Given the description of an element on the screen output the (x, y) to click on. 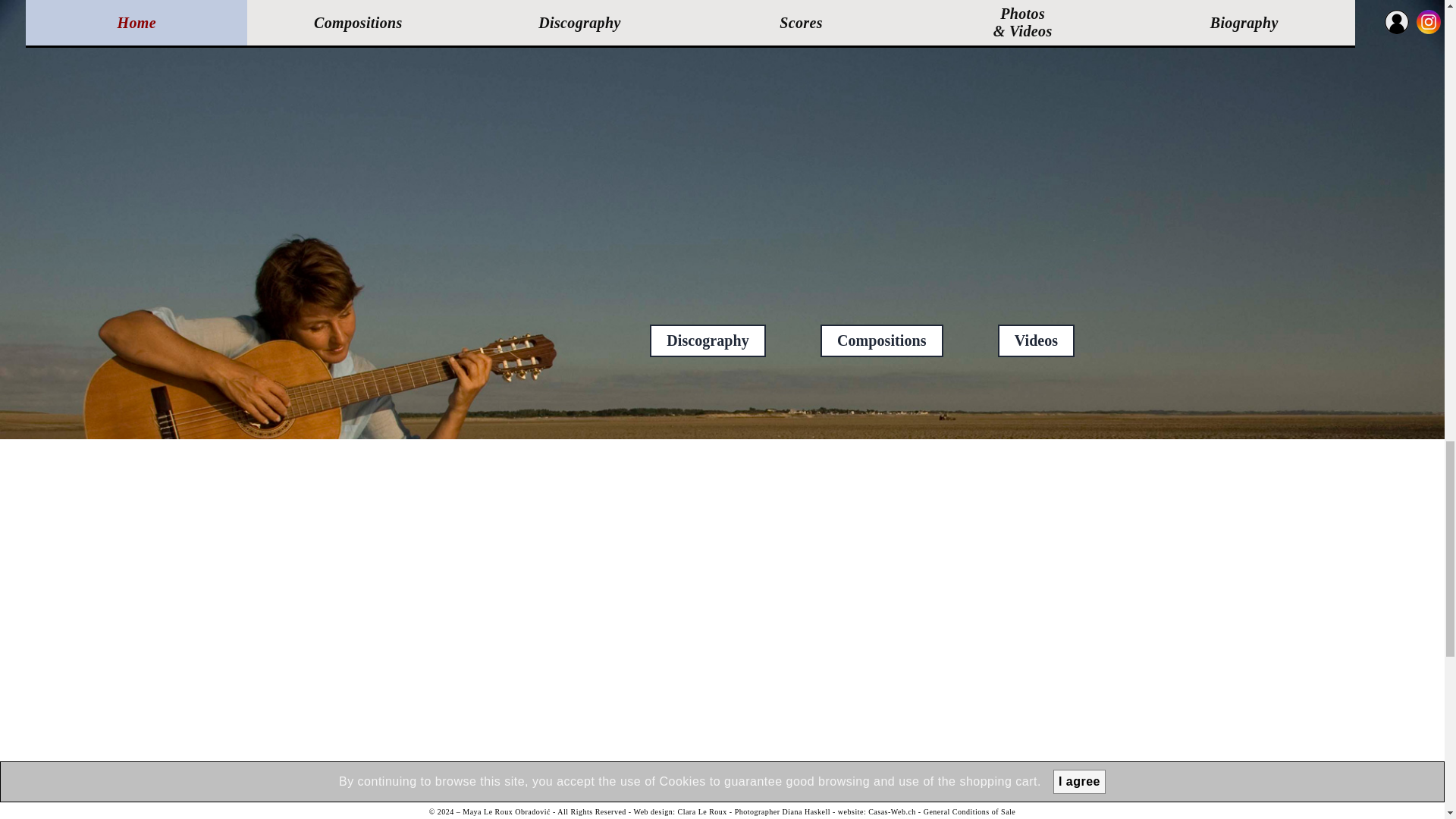
Compositions (881, 340)
Videos (1036, 340)
Discography (707, 340)
